Given the description of an element on the screen output the (x, y) to click on. 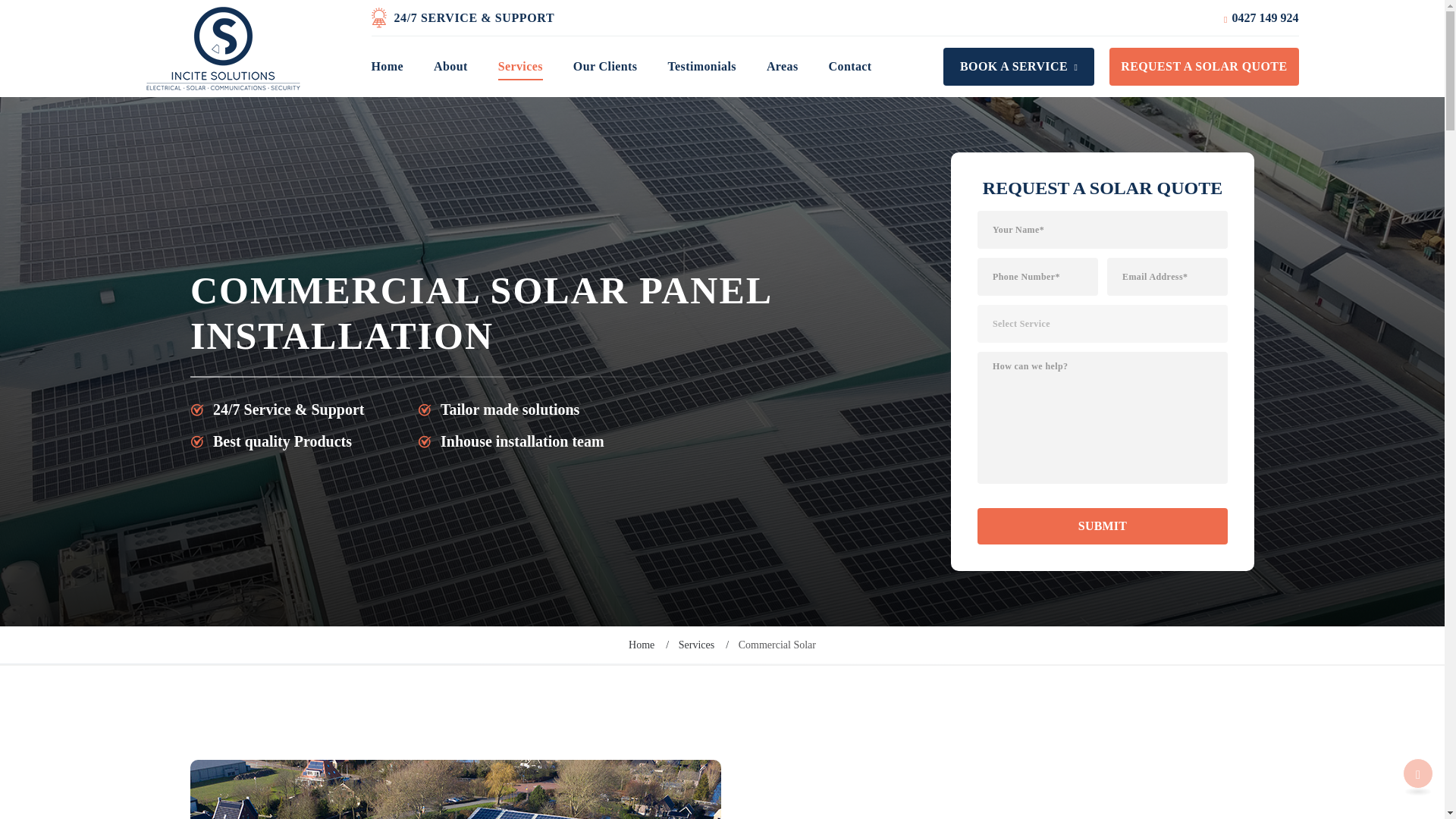
Submit (1101, 525)
Areas (782, 66)
About (450, 66)
0427 149 924 (1259, 18)
Testimonials (700, 66)
Our Clients (605, 66)
Home (387, 66)
Services (520, 66)
